Given the description of an element on the screen output the (x, y) to click on. 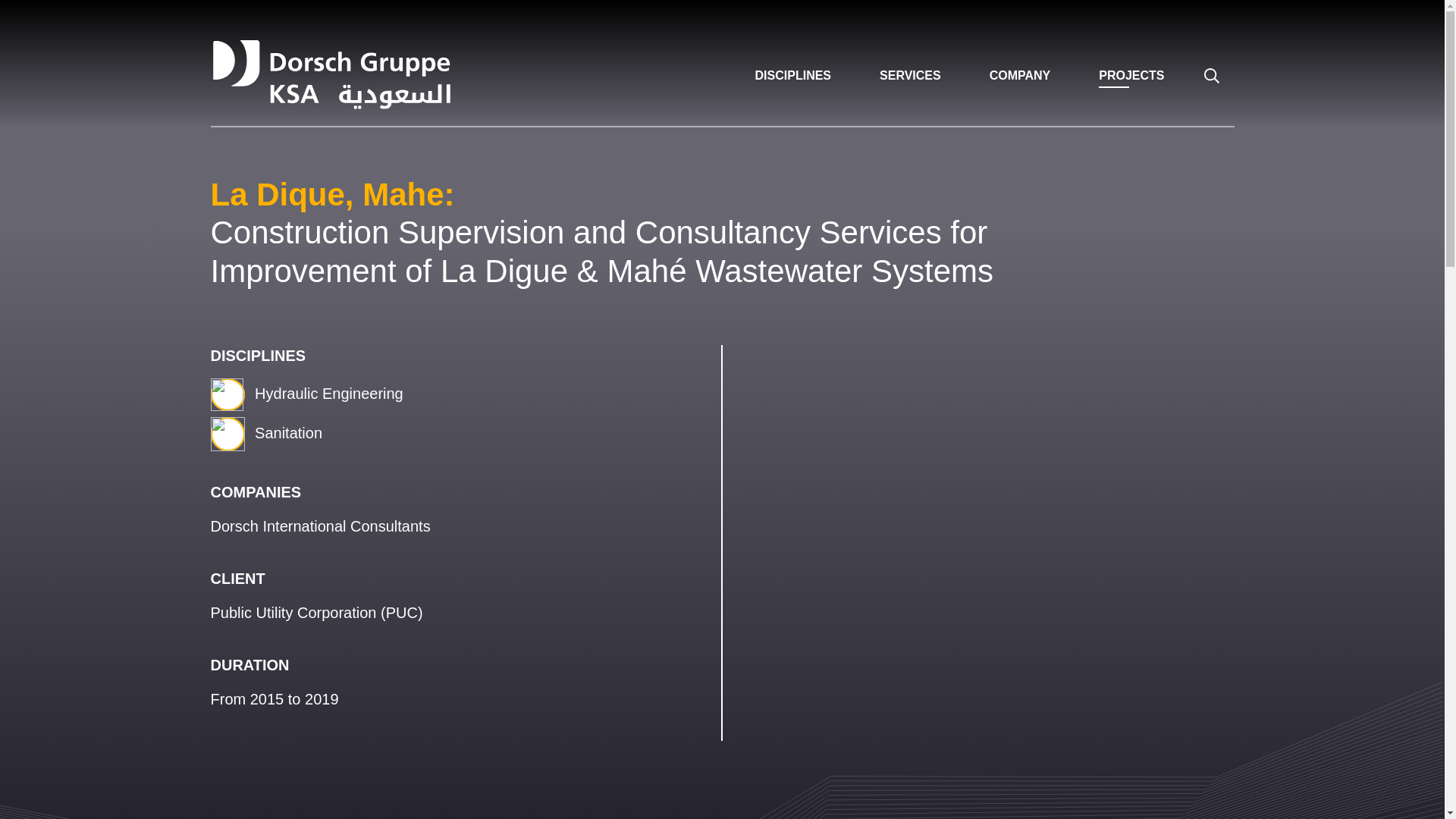
COMPANY (1020, 75)
DISCIPLINES (793, 75)
SERVICES (910, 75)
PROJECTS (1131, 75)
